Given the description of an element on the screen output the (x, y) to click on. 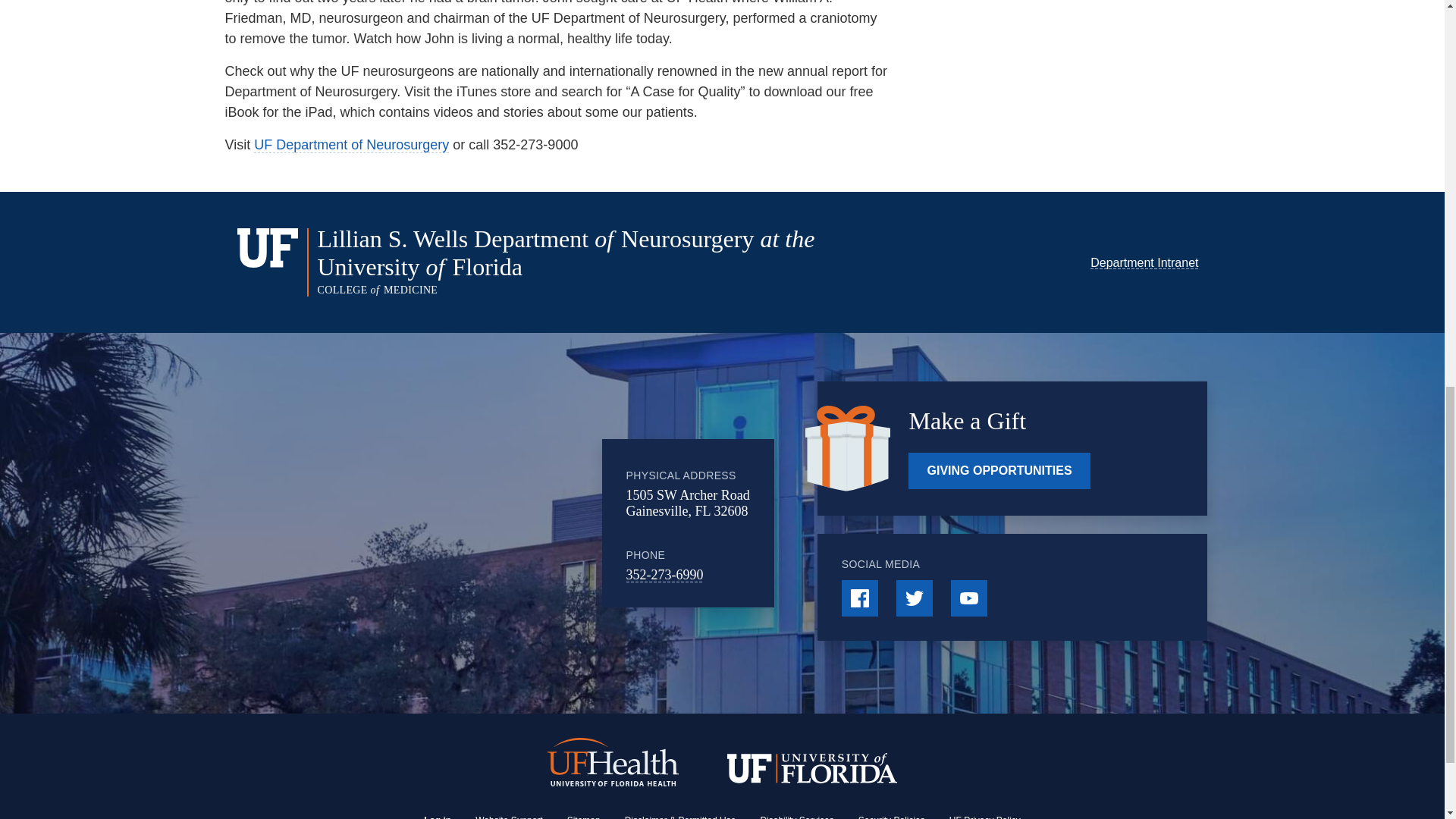
352-273-6990 (664, 574)
Log in (437, 816)
Security Policies (891, 816)
UF Privacy Policy (984, 816)
Website Support (509, 816)
Department Intranet (1144, 262)
Disability Services (796, 816)
Sitemap (583, 816)
visit uf nsgy (350, 145)
Google Maps Embed (477, 523)
